Given the description of an element on the screen output the (x, y) to click on. 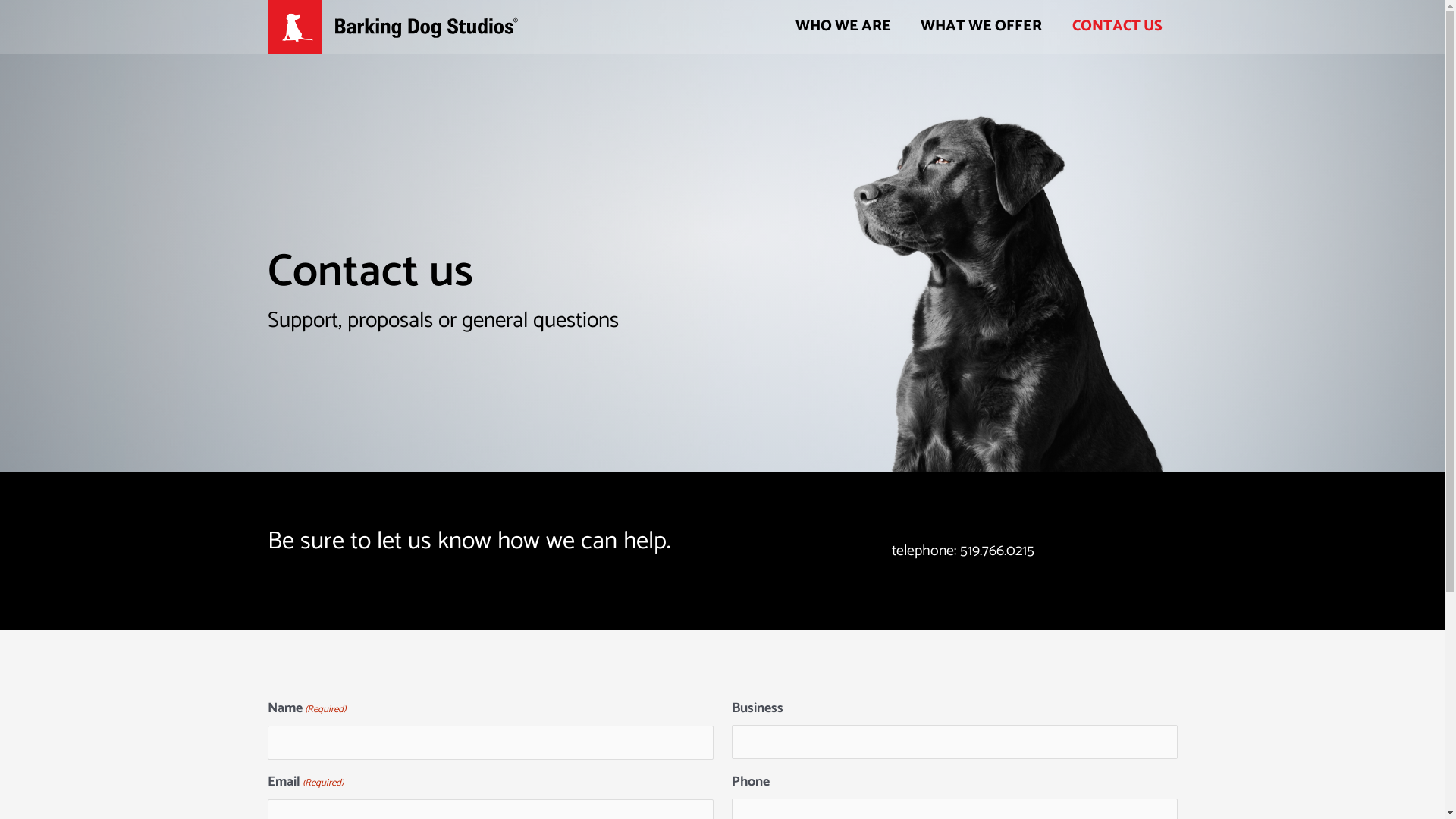
WHO WE ARE Element type: text (843, 26)
CONTACT US Element type: text (1117, 26)
WHAT WE OFFER Element type: text (981, 26)
